Given the description of an element on the screen output the (x, y) to click on. 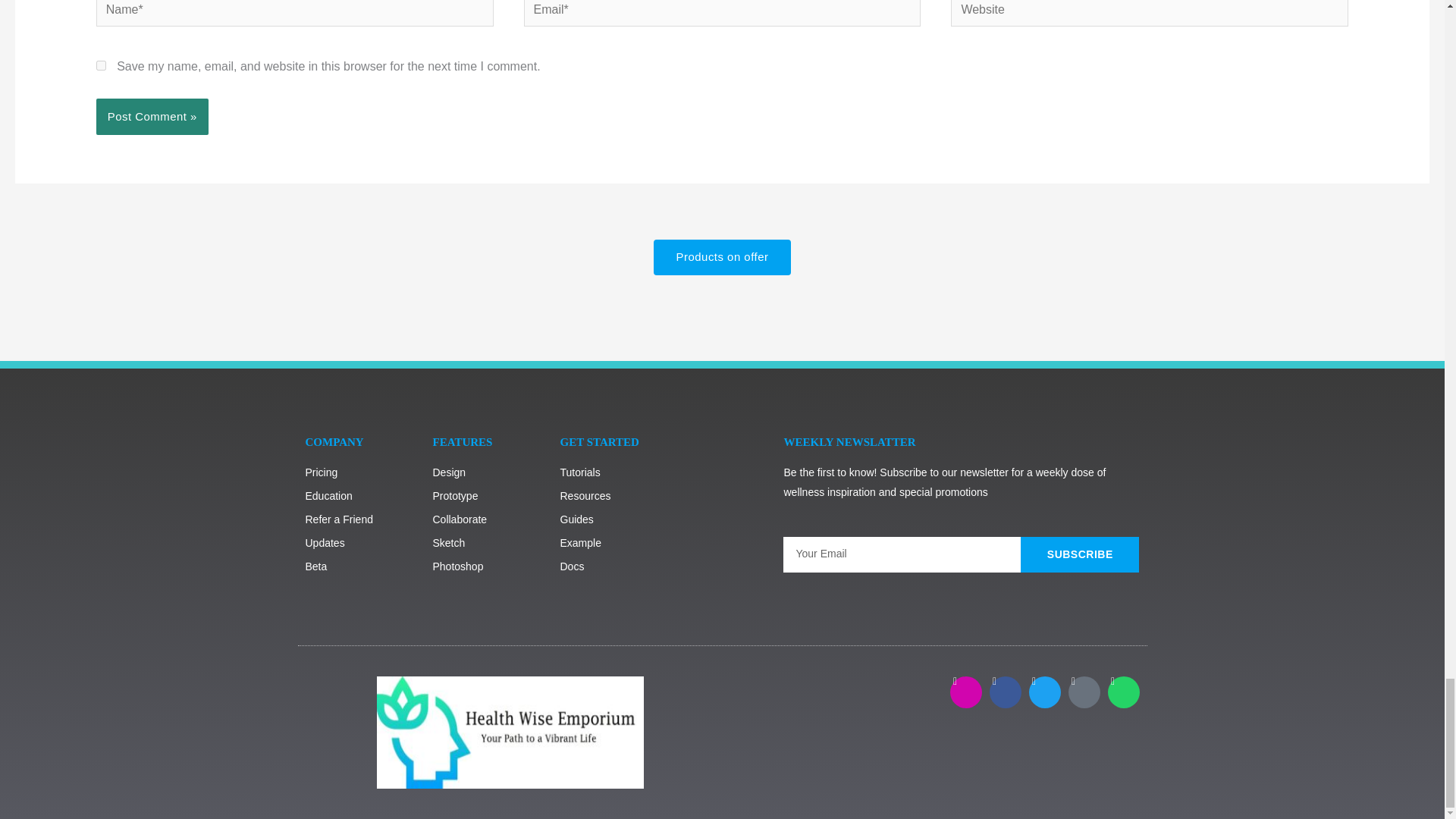
yes (101, 65)
